Given the description of an element on the screen output the (x, y) to click on. 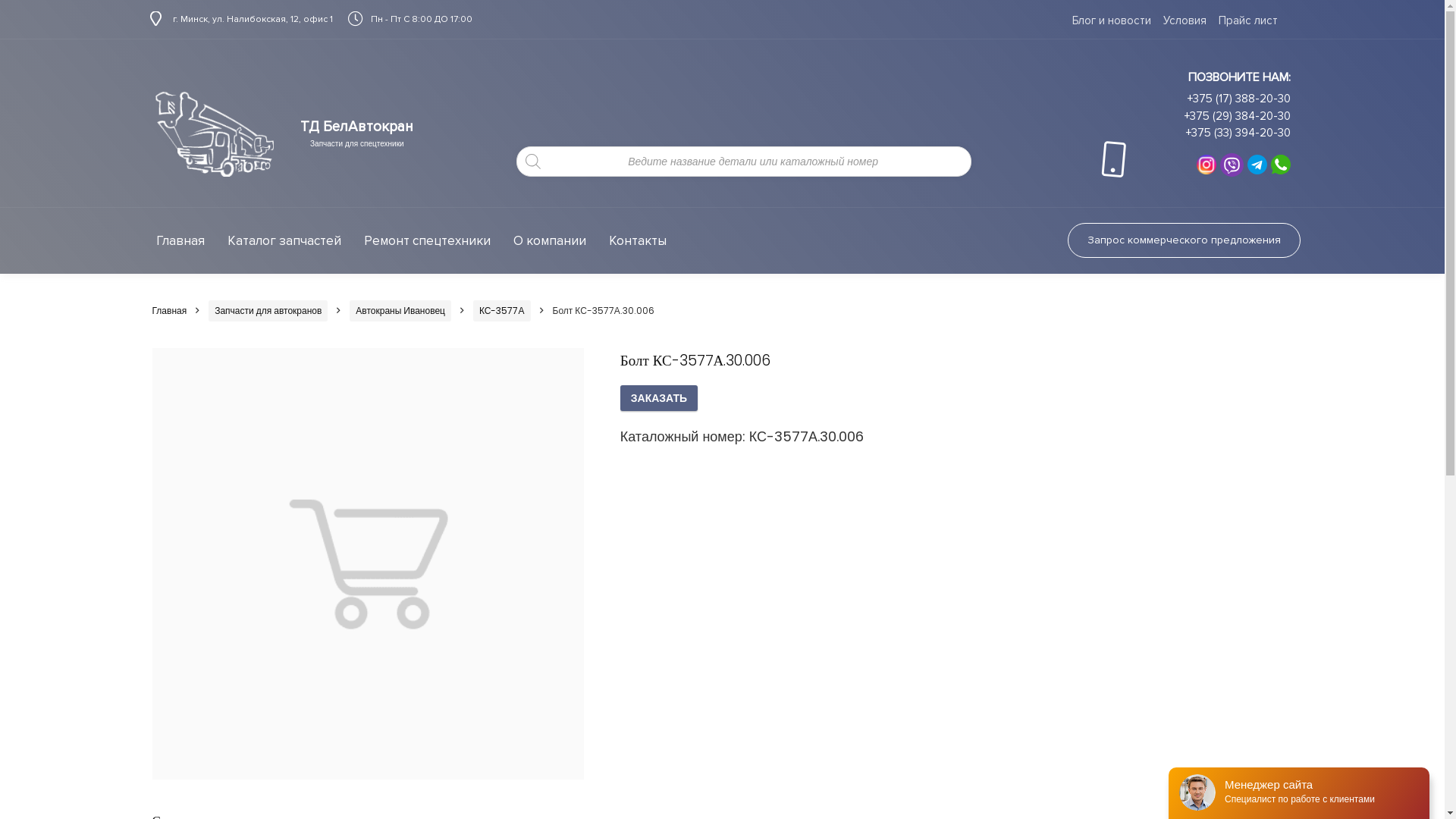
+375 (33) 394-20-30 Element type: text (1238, 132)
Header Element type: hover (214, 133)
+375 (29) 384-20-30 Element type: text (1237, 115)
+375 (17) 388-20-30 Element type: text (1238, 98)
